Given the description of an element on the screen output the (x, y) to click on. 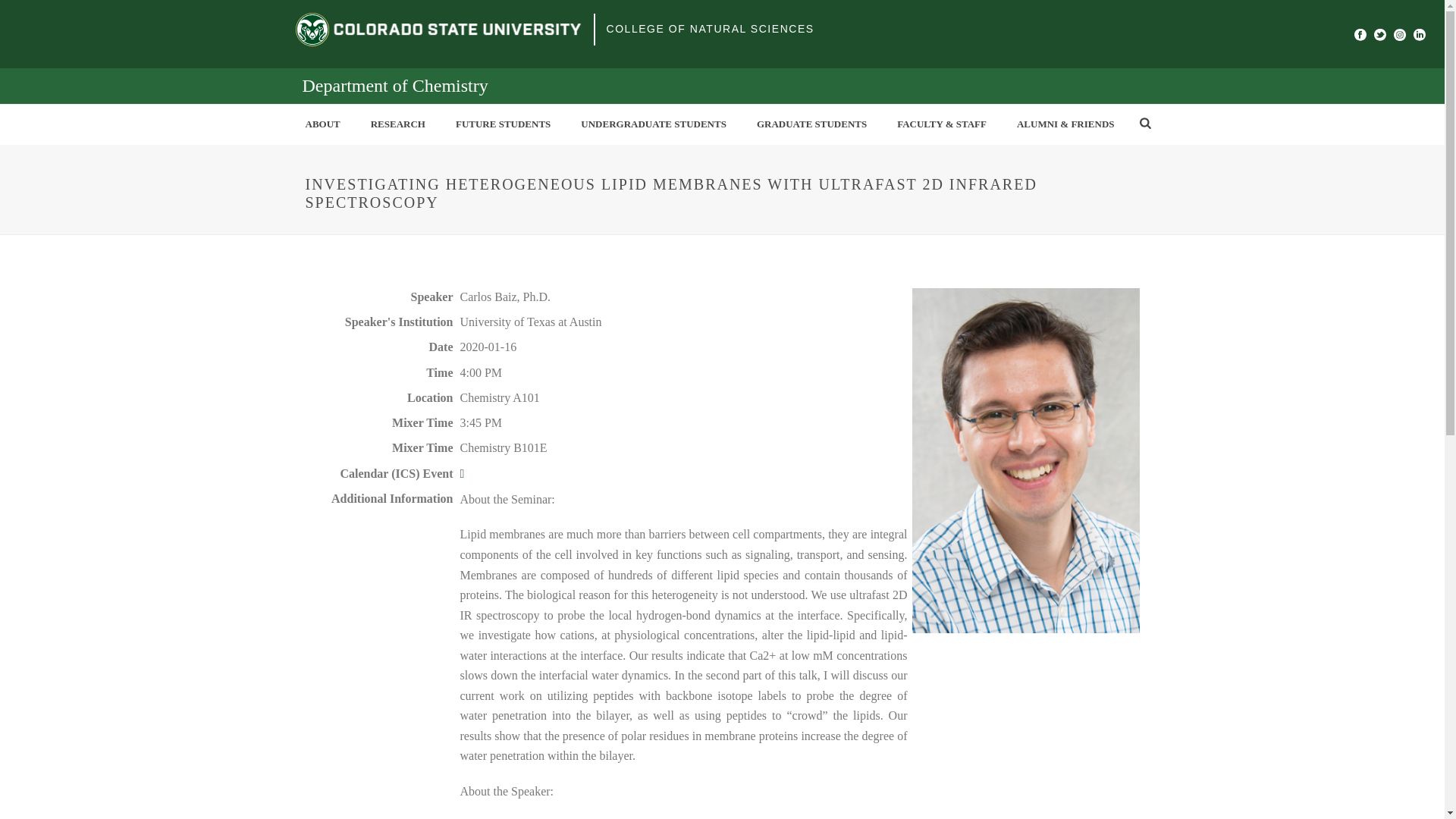
RESEARCH (398, 124)
FUTURE STUDENTS (503, 124)
Department of Chemistry (394, 85)
GRADUATE STUDENTS (811, 124)
UNDERGRADUATE STUDENTS (653, 124)
UNDERGRADUATE STUDENTS (653, 124)
RESEARCH (398, 124)
FUTURE STUDENTS (503, 124)
ABOUT (322, 124)
ABOUT (322, 124)
COLLEGE OF NATURAL SCIENCES (710, 29)
Colorado State University (438, 29)
ICS Export of Seminar (462, 472)
Toggle Search Options (1145, 123)
